Given the description of an element on the screen output the (x, y) to click on. 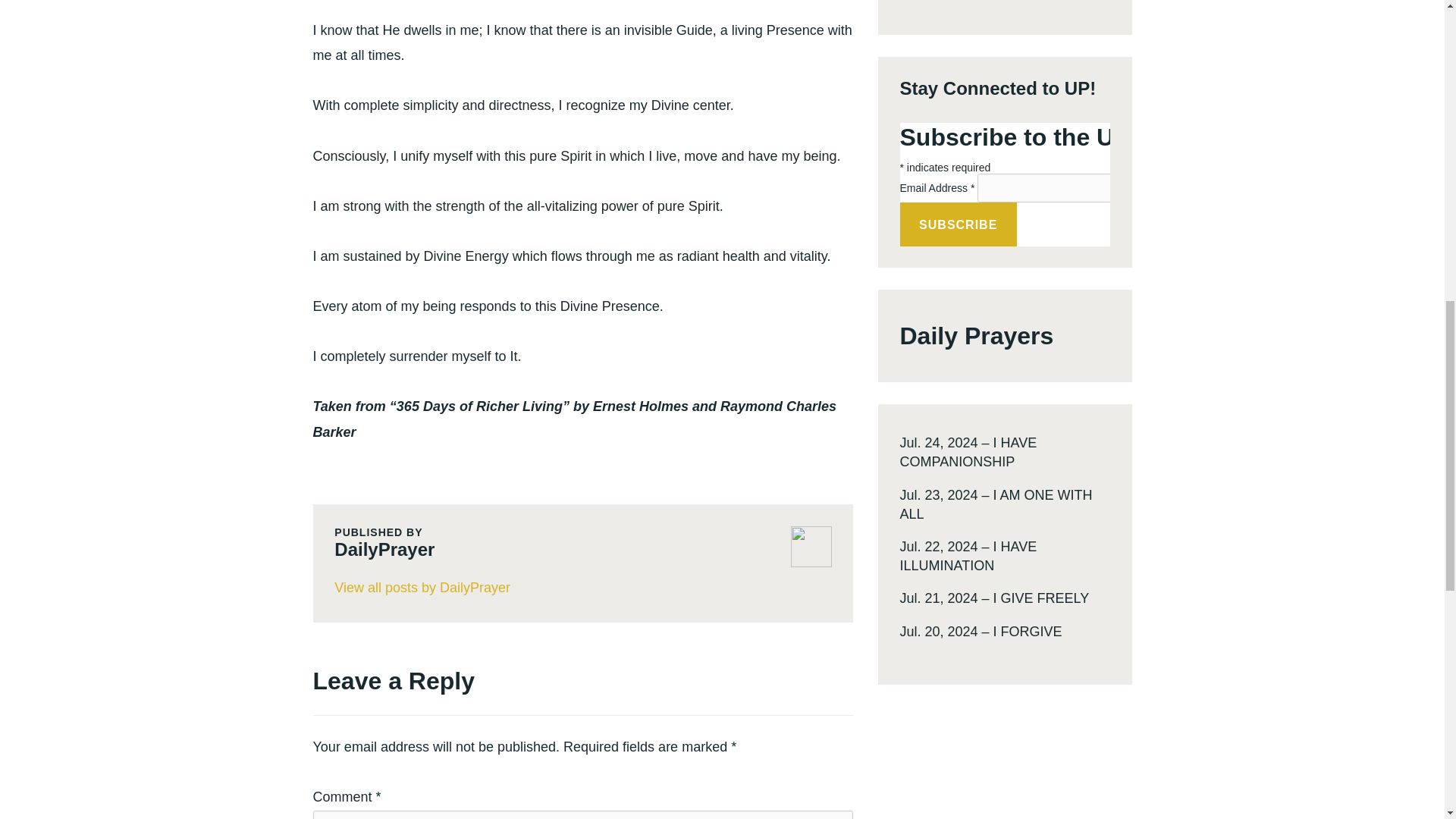
Subscribe (957, 224)
View all posts by DailyPrayer (582, 588)
Subscribe (957, 224)
